Given the description of an element on the screen output the (x, y) to click on. 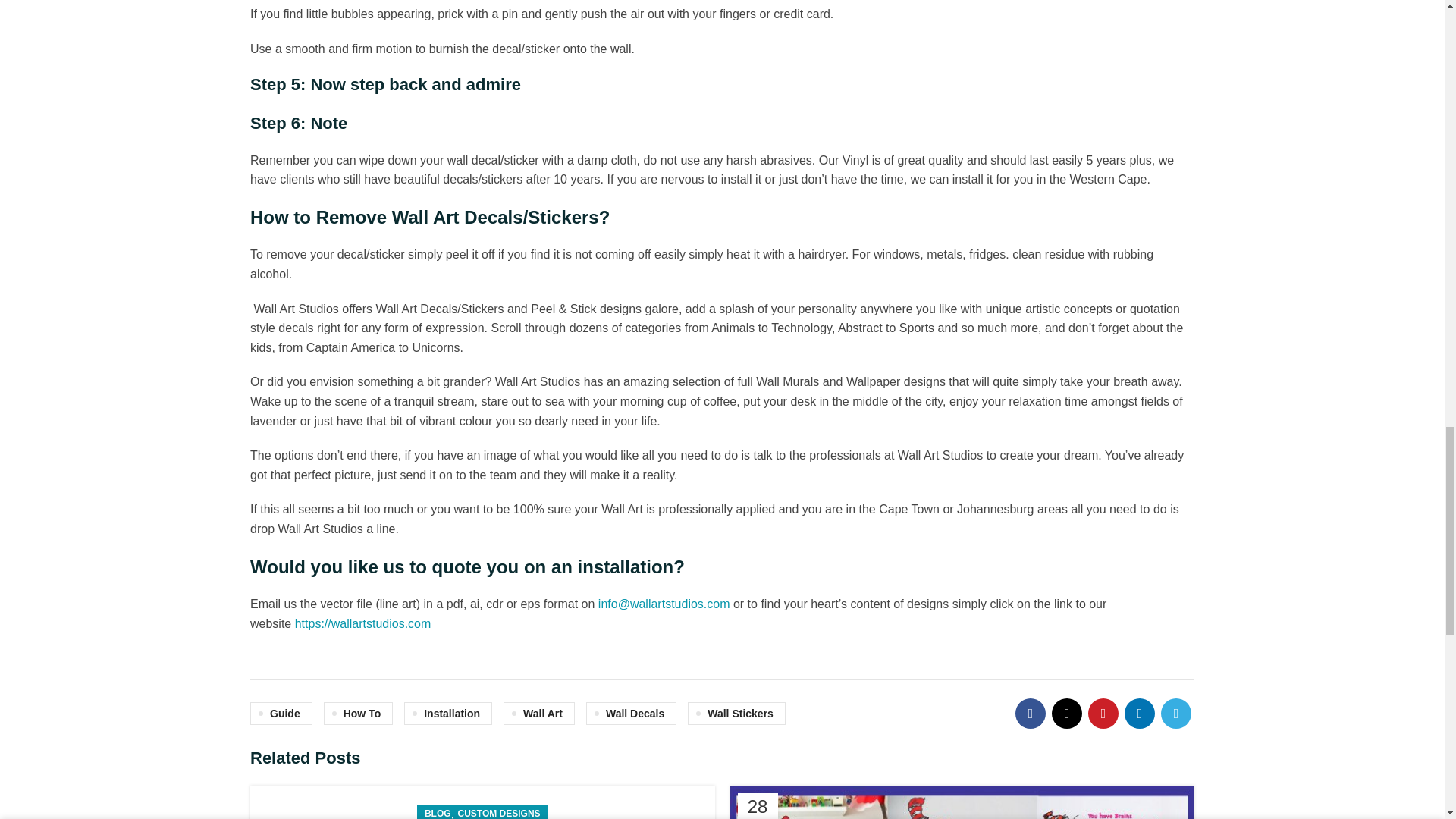
Wall Decals (631, 712)
Wall Art (539, 712)
Wall Stickers (736, 712)
Installation (448, 712)
Guide (281, 712)
BLOG (438, 811)
How To (358, 712)
CUSTOM DESIGNS (498, 811)
